Given the description of an element on the screen output the (x, y) to click on. 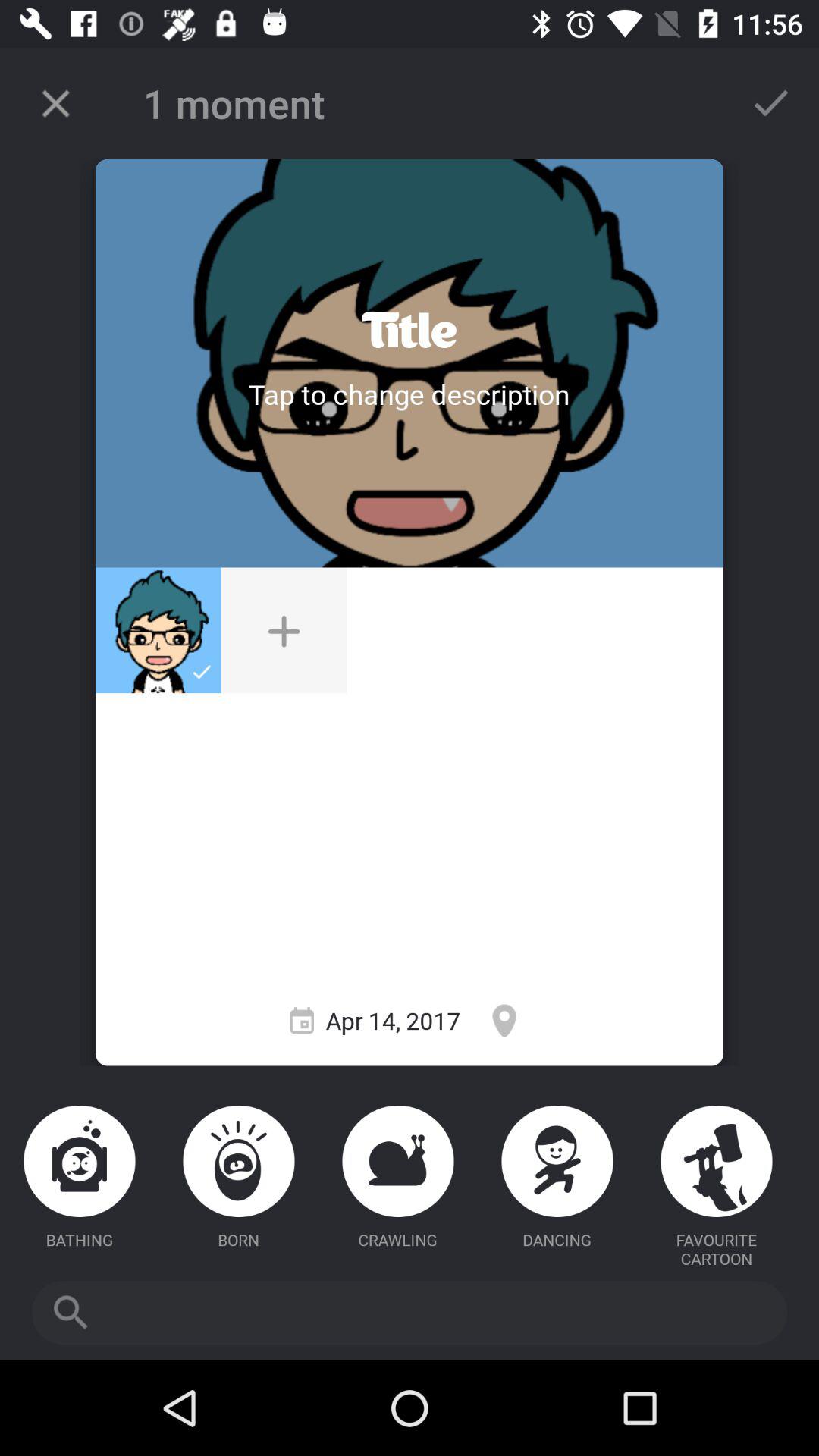
add a new avatar (283, 630)
